Given the description of an element on the screen output the (x, y) to click on. 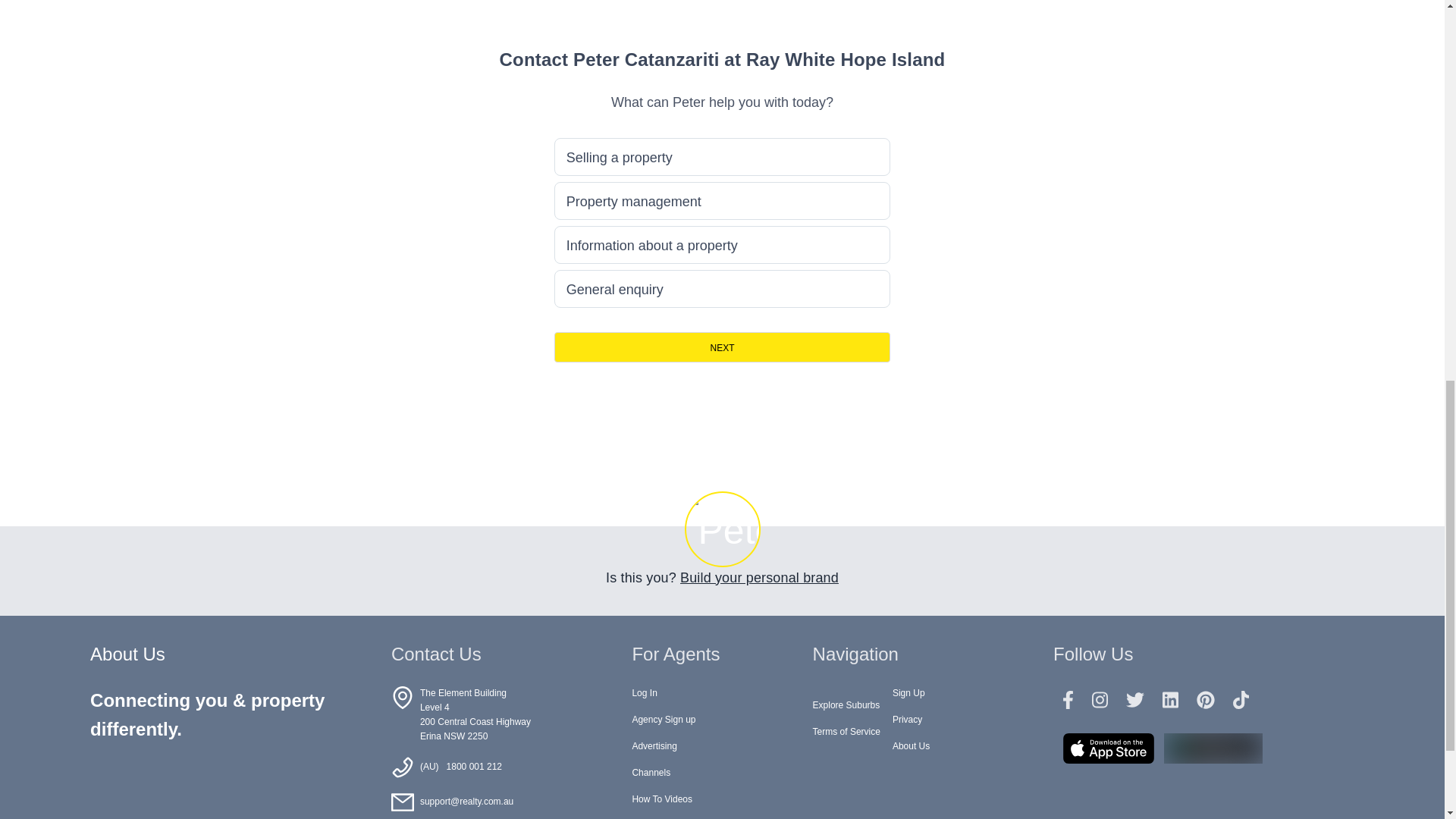
Realty Tiktok (1240, 700)
Realty Pinterest (1206, 700)
Terms of Service (846, 731)
Realty Twitter (1134, 700)
NEXT (722, 347)
Privacy (906, 719)
Realty Instagram (1099, 700)
About Us (911, 746)
Advertising (654, 746)
